Given the description of an element on the screen output the (x, y) to click on. 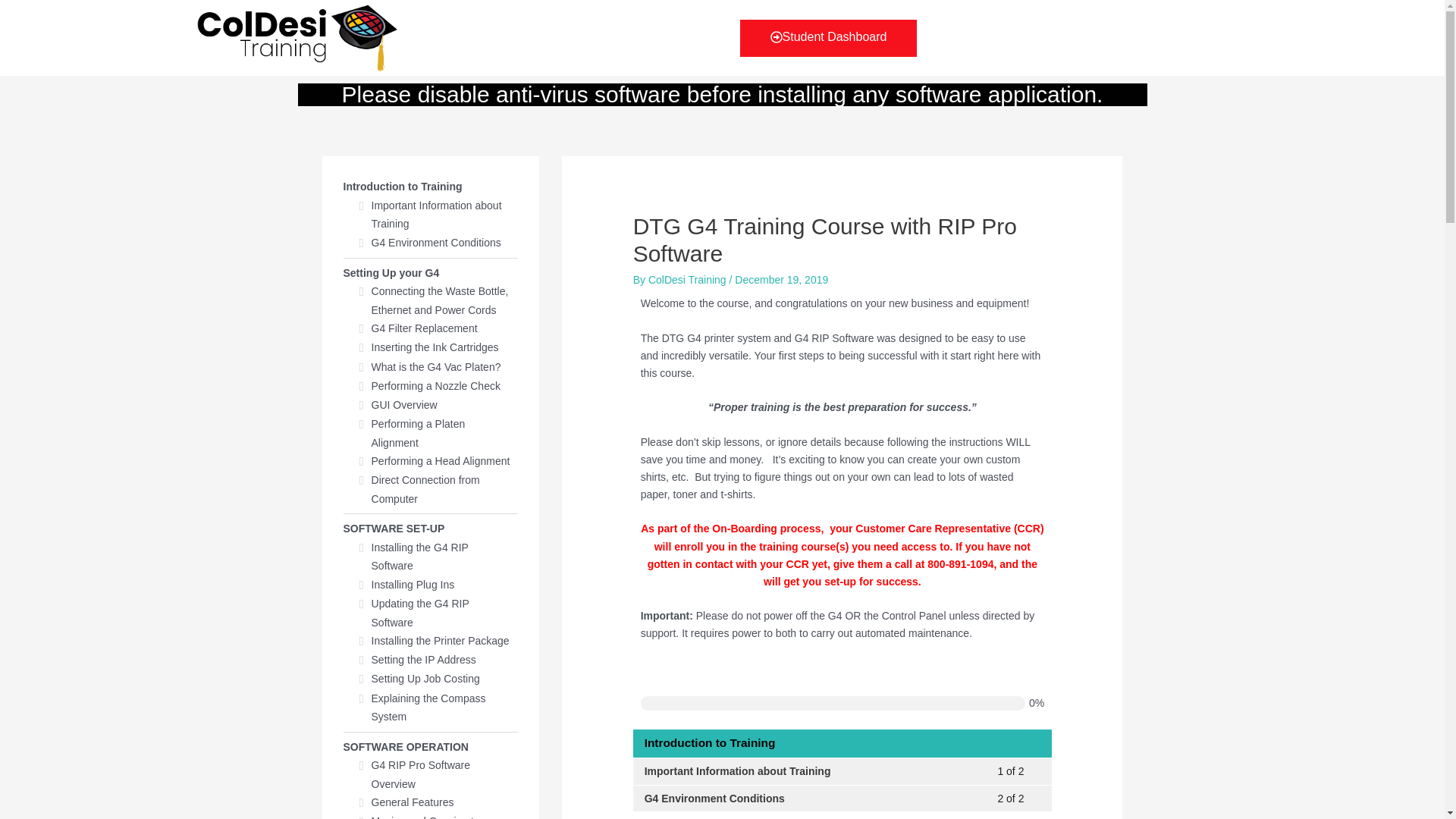
ColDesi Training (842, 798)
View all posts by ColDesi Training (688, 279)
Student Dashboard (688, 279)
